Given the description of an element on the screen output the (x, y) to click on. 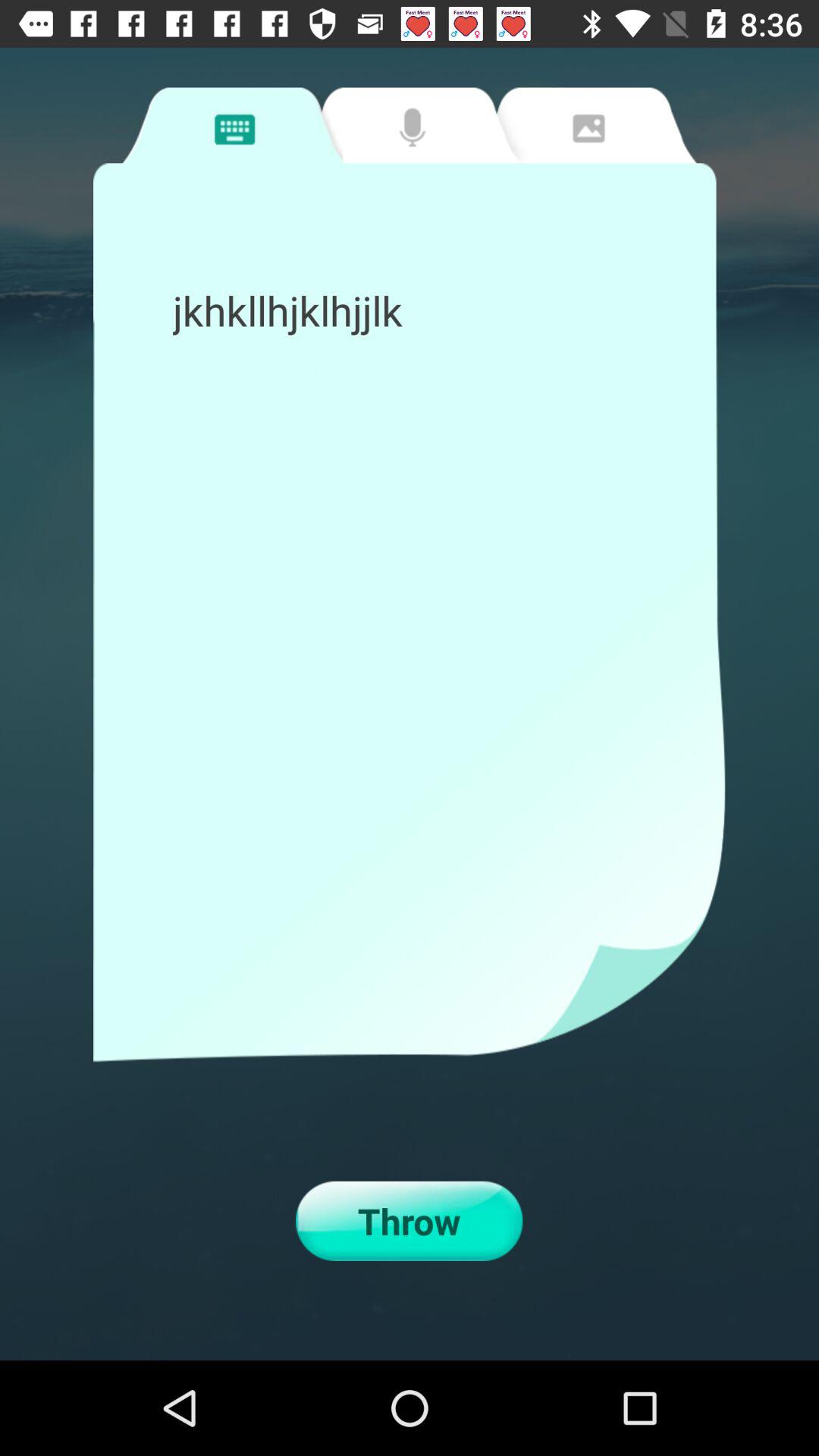
message input tab (231, 125)
